Given the description of an element on the screen output the (x, y) to click on. 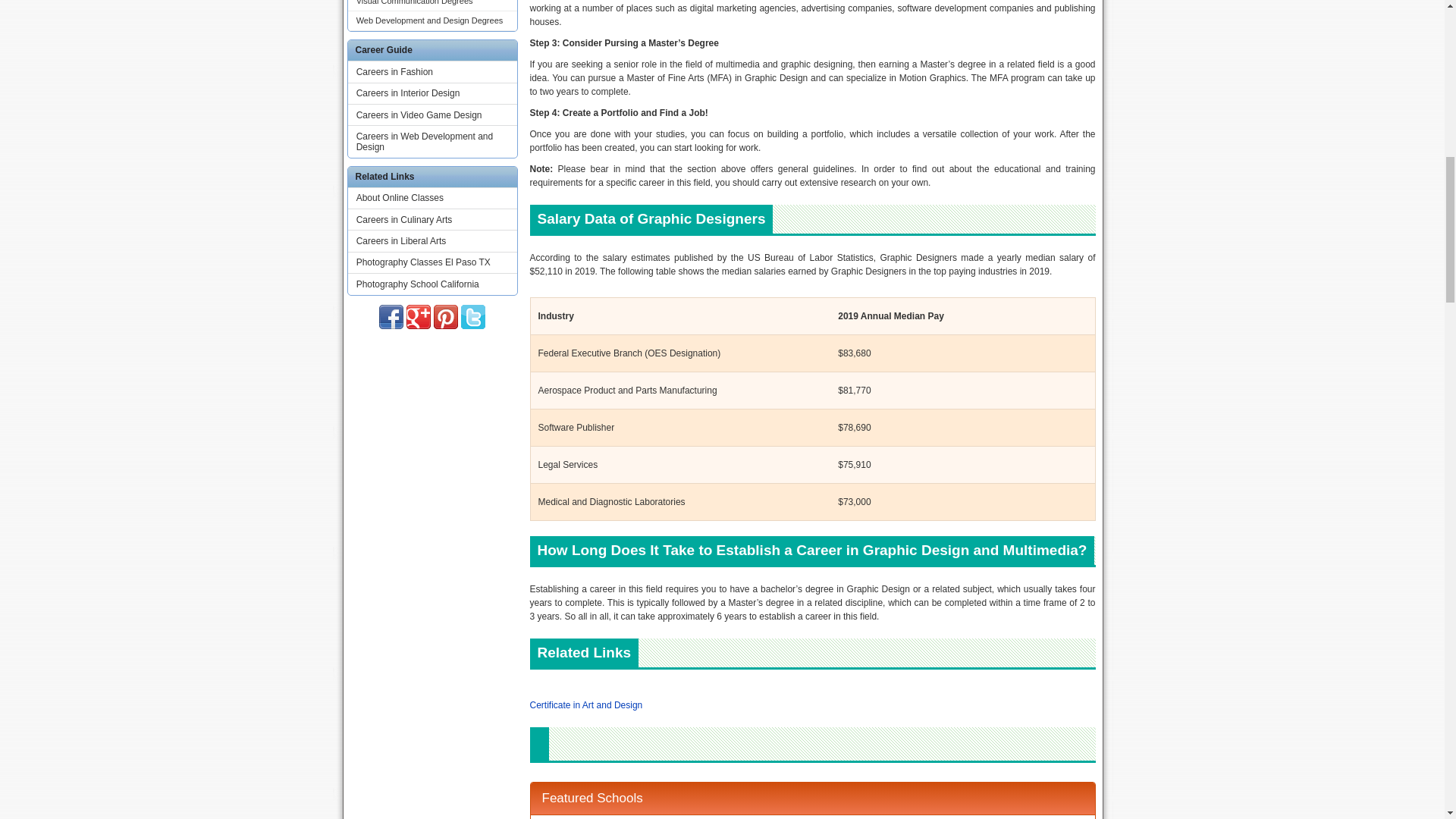
Find us on facebook (390, 316)
Find us on pinterest (445, 316)
Find us on twitter (472, 316)
